Given the description of an element on the screen output the (x, y) to click on. 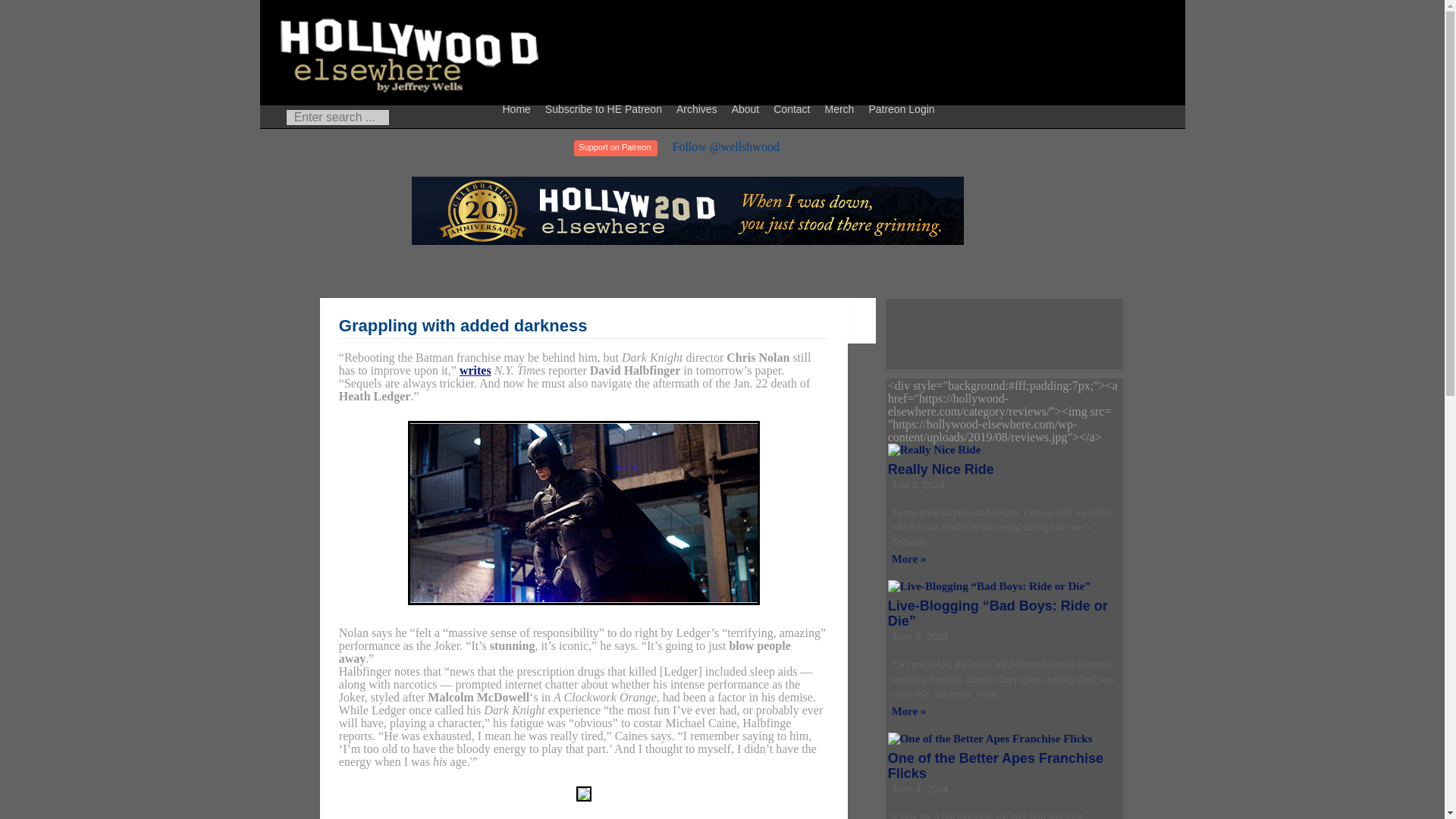
Permanent Link to Grappling with added darkness (463, 325)
writes (476, 369)
Subscribe to HE Patreon (605, 108)
Merch (841, 108)
Contact (793, 108)
Grappling with added darkness (463, 325)
Support on Patreon (614, 148)
About (747, 108)
Home (519, 108)
Archives (698, 108)
